Given the description of an element on the screen output the (x, y) to click on. 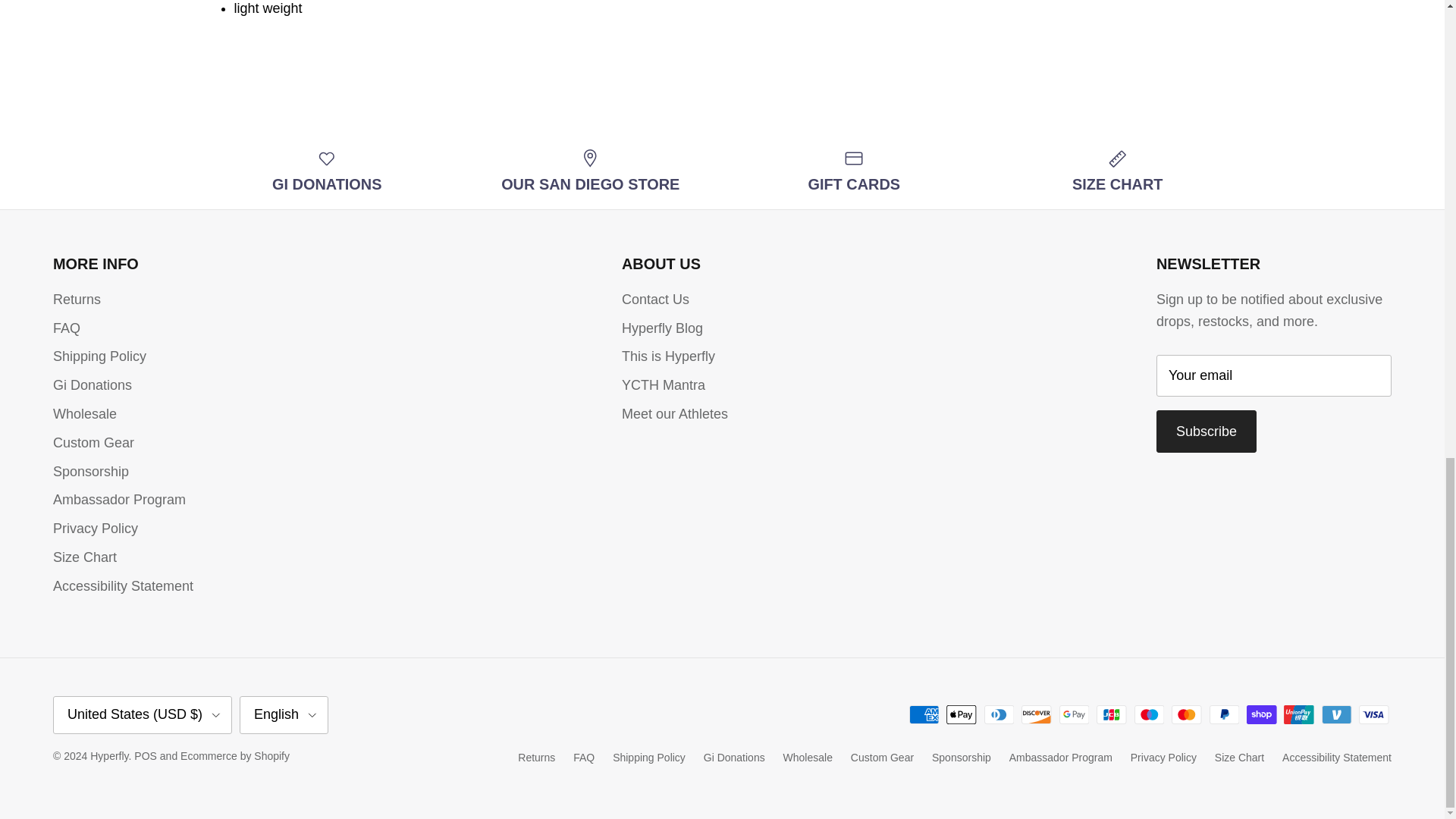
Visa (1373, 714)
Mastercard (1186, 714)
Diners Club (999, 714)
Venmo (1336, 714)
Discover (1036, 714)
Union Pay (1298, 714)
JCB (1111, 714)
Shop Pay (1261, 714)
Google Pay (1074, 714)
Apple Pay (961, 714)
